Given the description of an element on the screen output the (x, y) to click on. 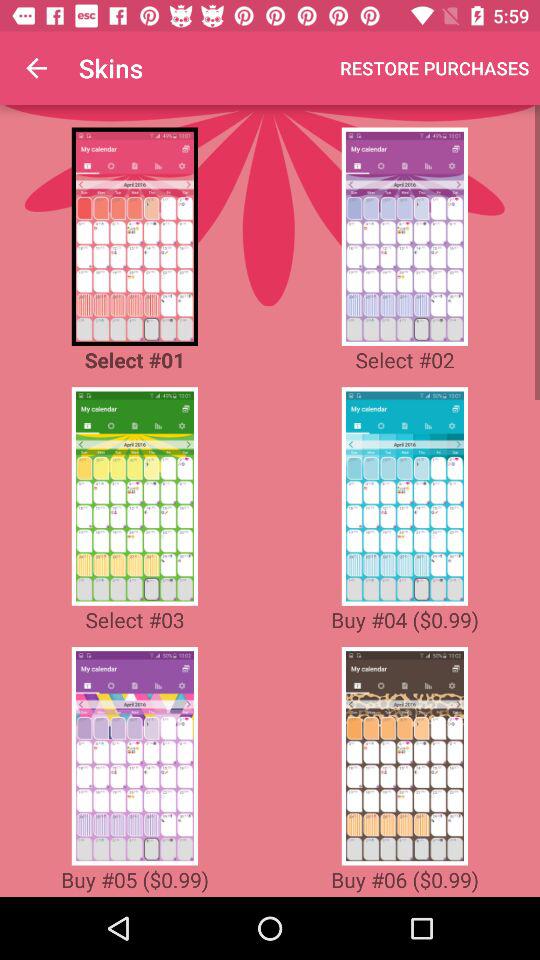
select option (404, 496)
